Given the description of an element on the screen output the (x, y) to click on. 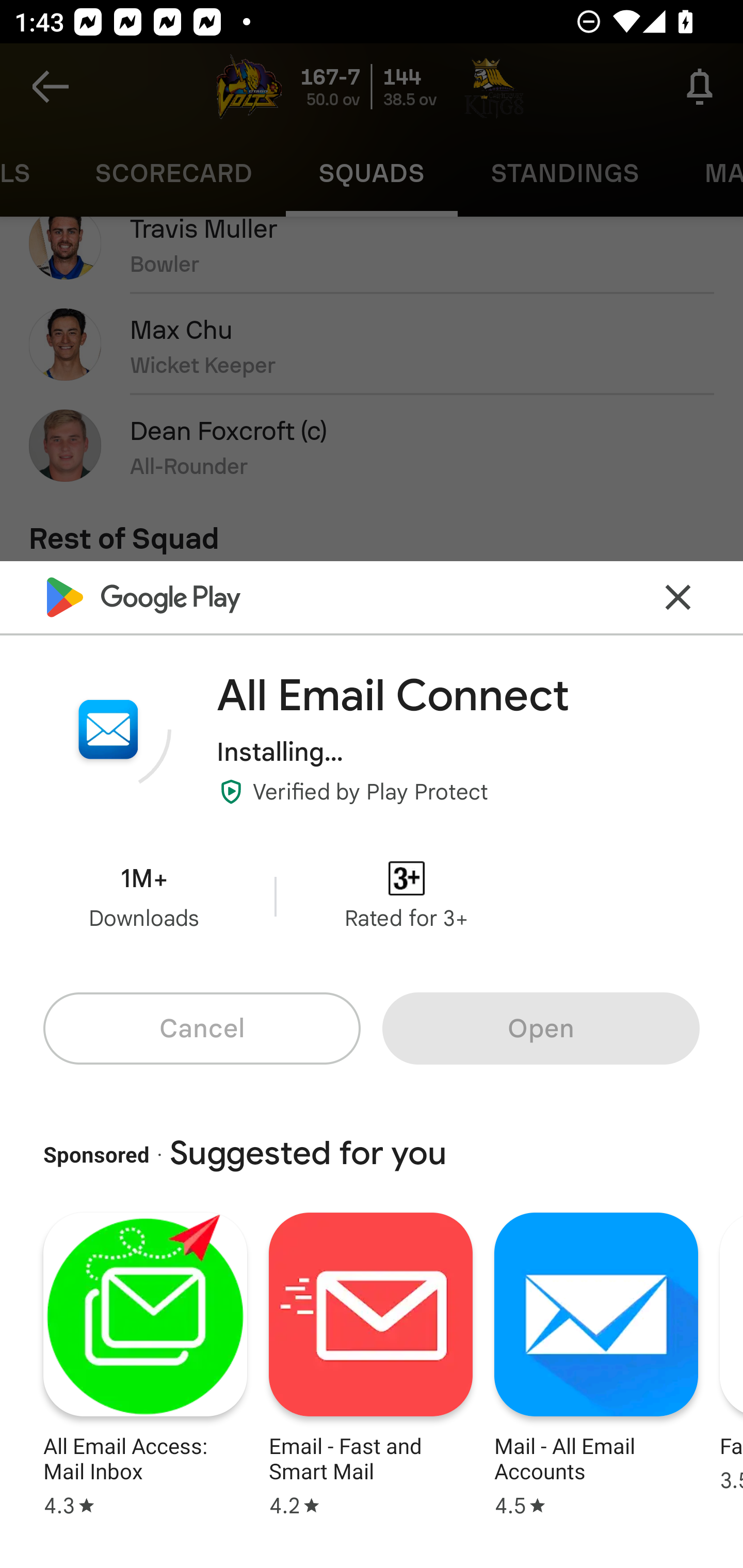
Close (677, 597)
Image of app or game icon for All Email Connect (108, 729)
App: Mail - All Email Accounts
Star rating: 4.5


 (595, 1362)
